Given the description of an element on the screen output the (x, y) to click on. 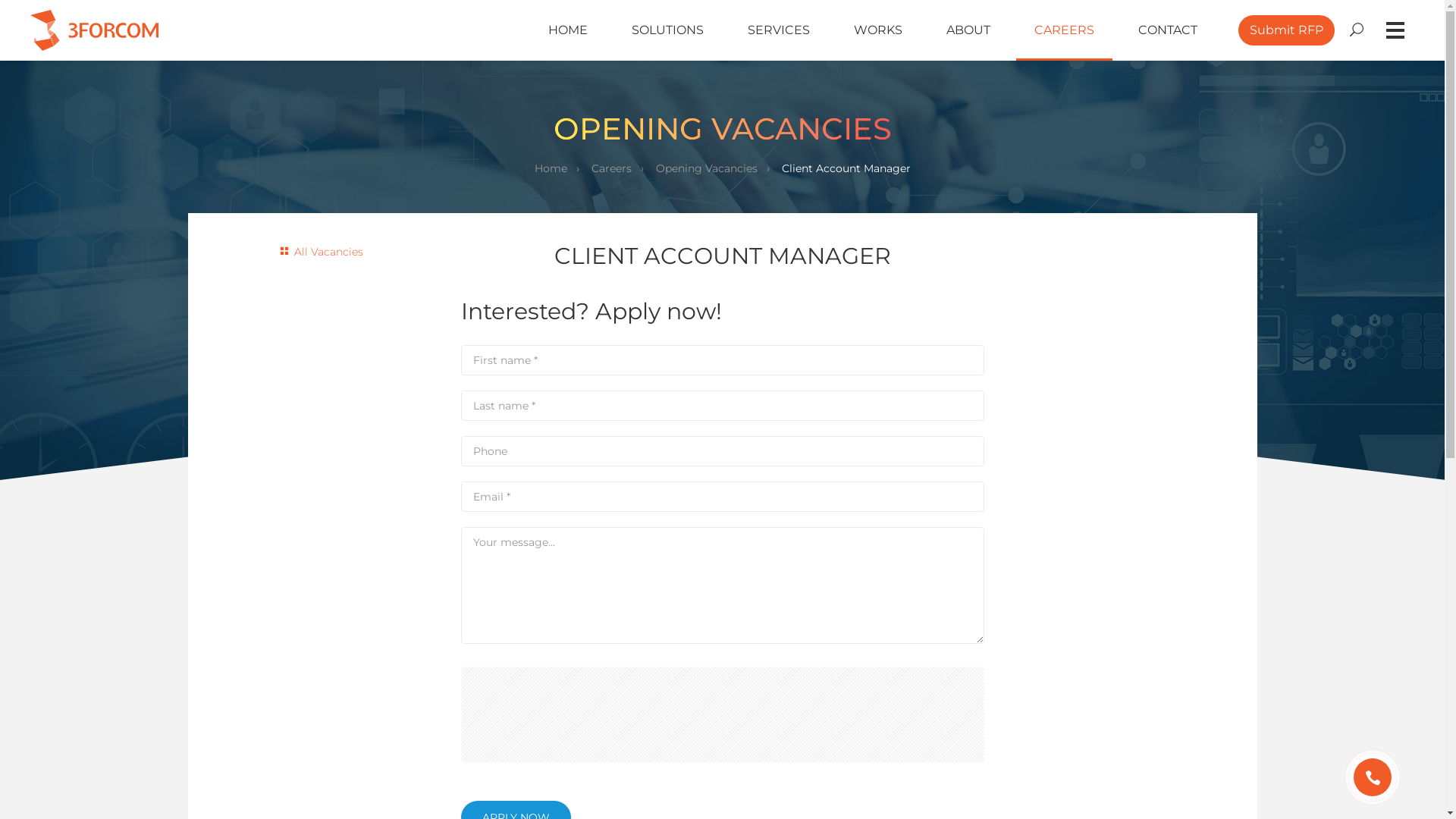
Careers Element type: text (611, 168)
CAREERS Element type: text (1064, 30)
Submit RFP Element type: text (1286, 30)
WORKS Element type: text (877, 30)
CONTACT Element type: text (1167, 30)
3forcom Element type: hover (94, 30)
Home Element type: text (549, 168)
ABOUT Element type: text (968, 30)
All Vacancies Element type: text (321, 251)
HOME Element type: text (567, 30)
SOLUTIONS Element type: text (667, 30)
Opening Vacancies Element type: text (705, 168)
SERVICES Element type: text (778, 30)
